Given the description of an element on the screen output the (x, y) to click on. 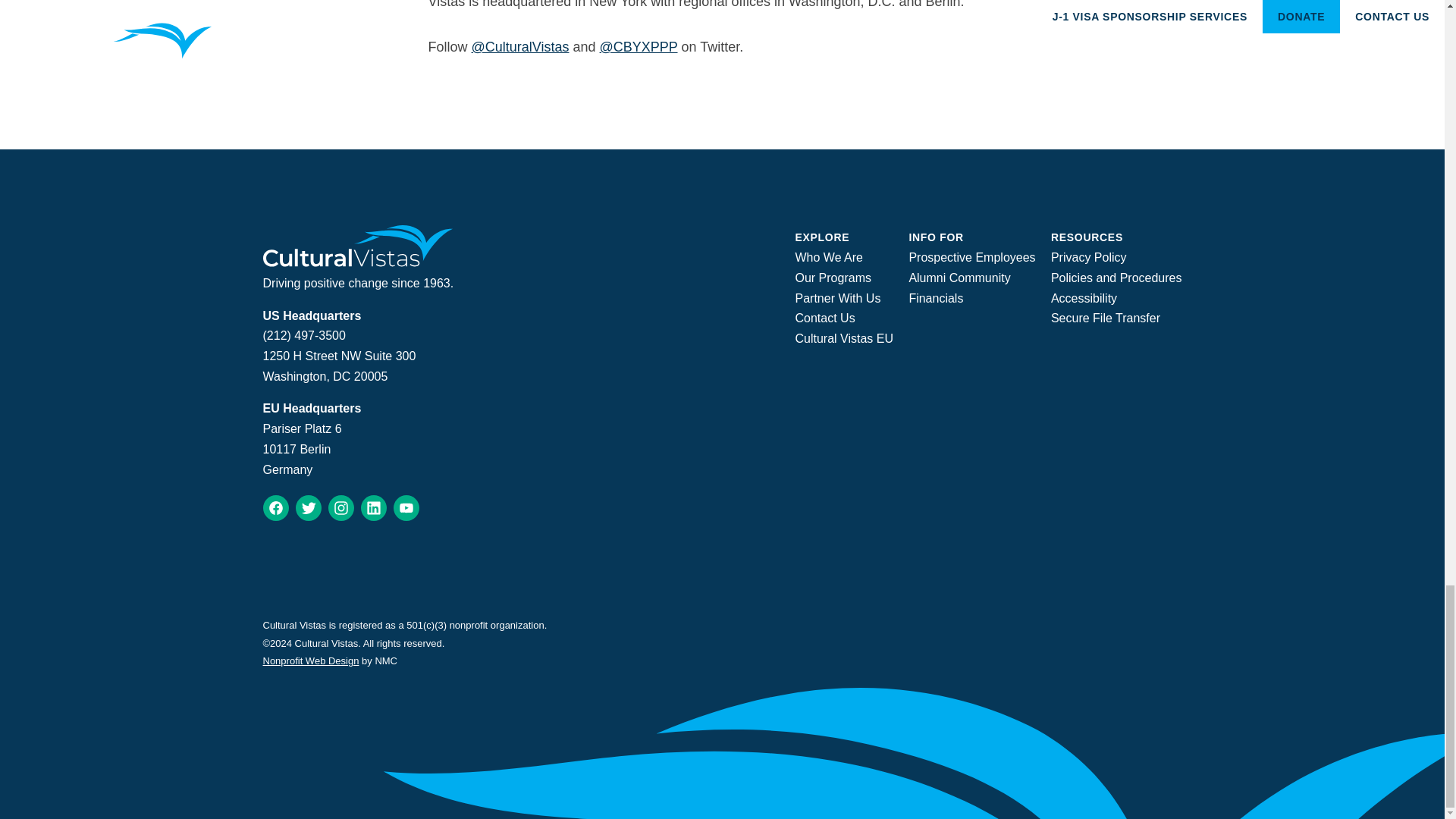
homepage (357, 262)
